Given the description of an element on the screen output the (x, y) to click on. 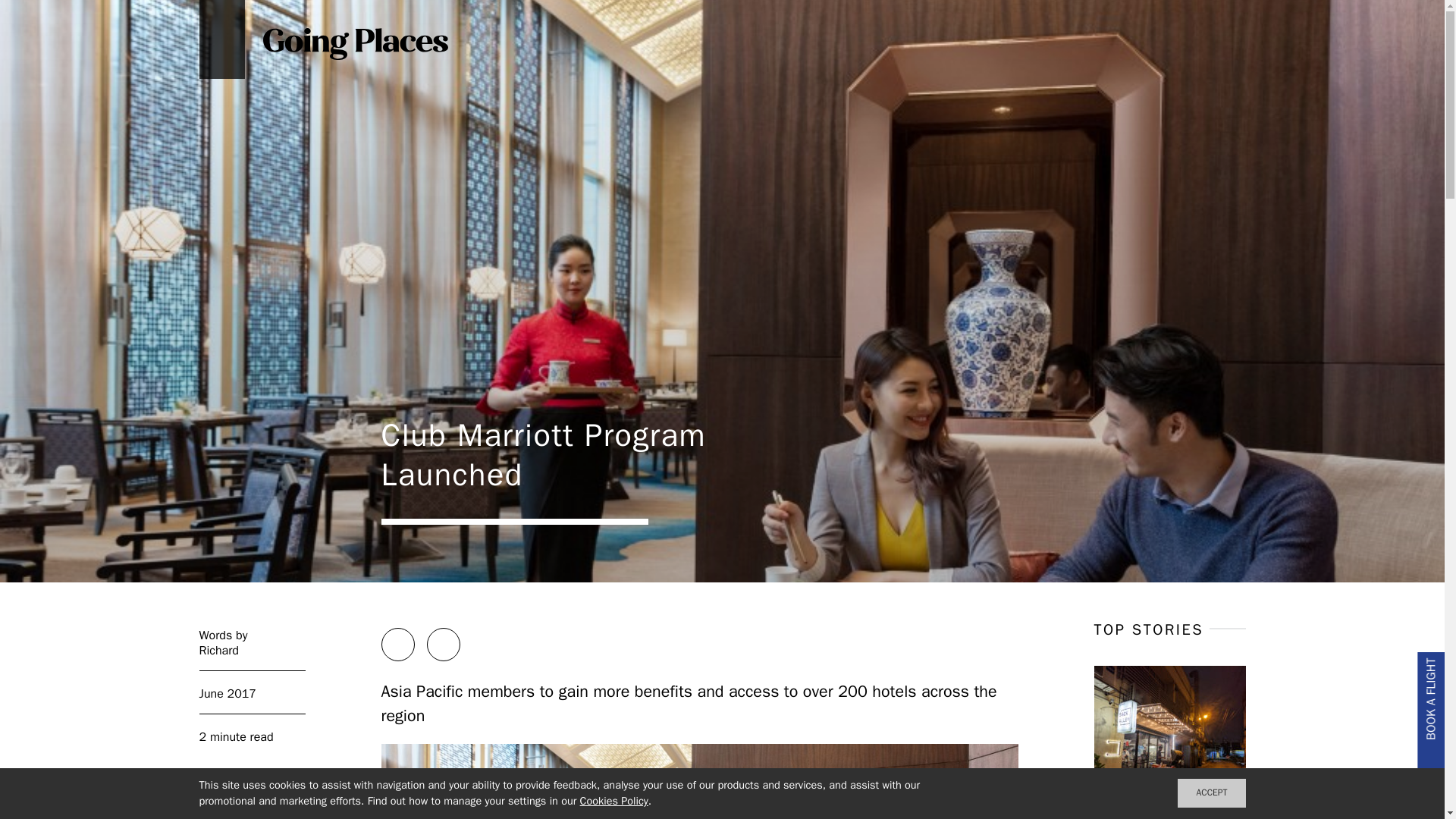
Going Places by Malaysia Airlines (354, 43)
Richard (251, 650)
Posts by Richard (251, 650)
Facebook (396, 644)
Twitter (443, 644)
